Given the description of an element on the screen output the (x, y) to click on. 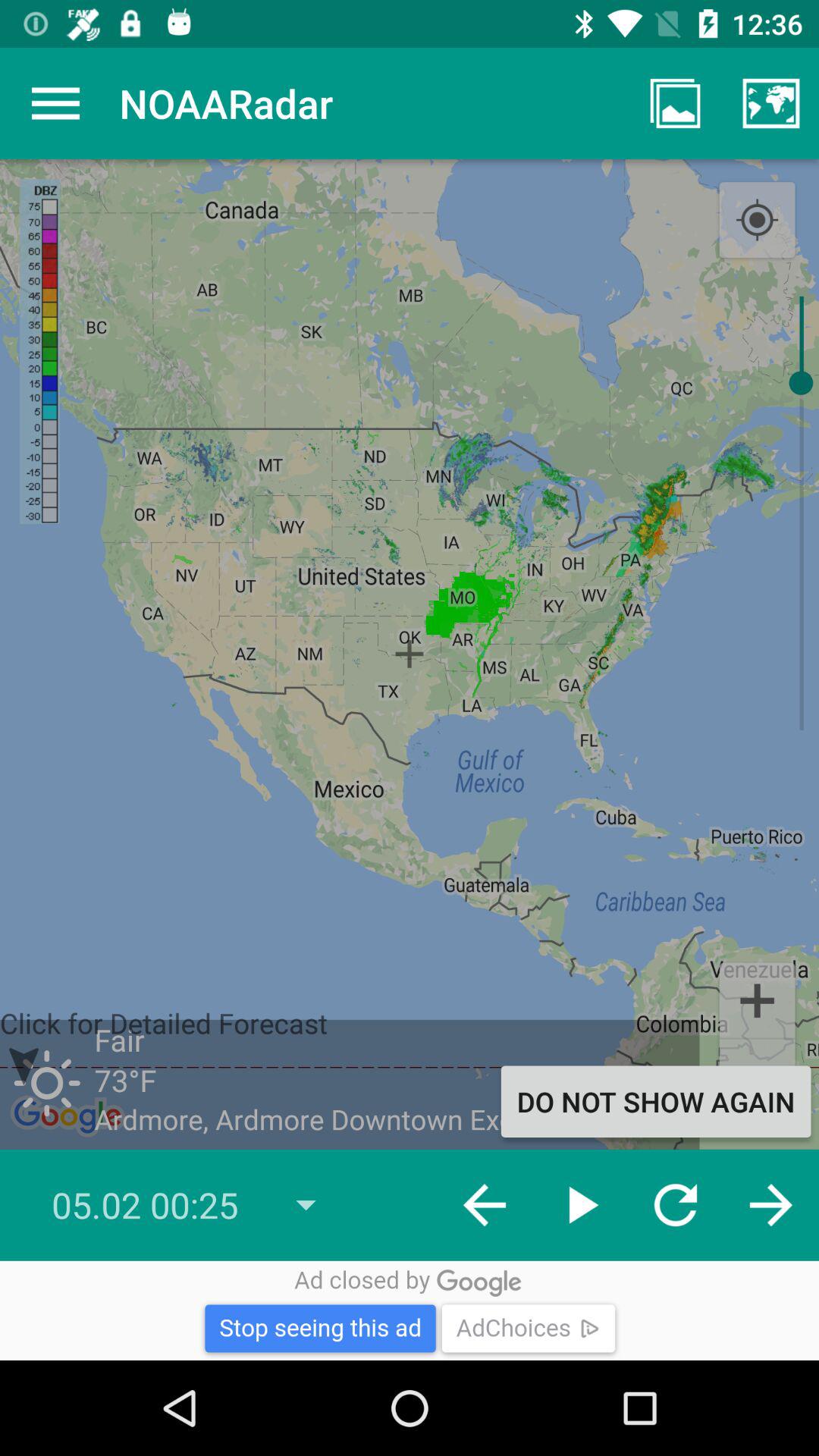
stop seeing advertisement (409, 1310)
